Given the description of an element on the screen output the (x, y) to click on. 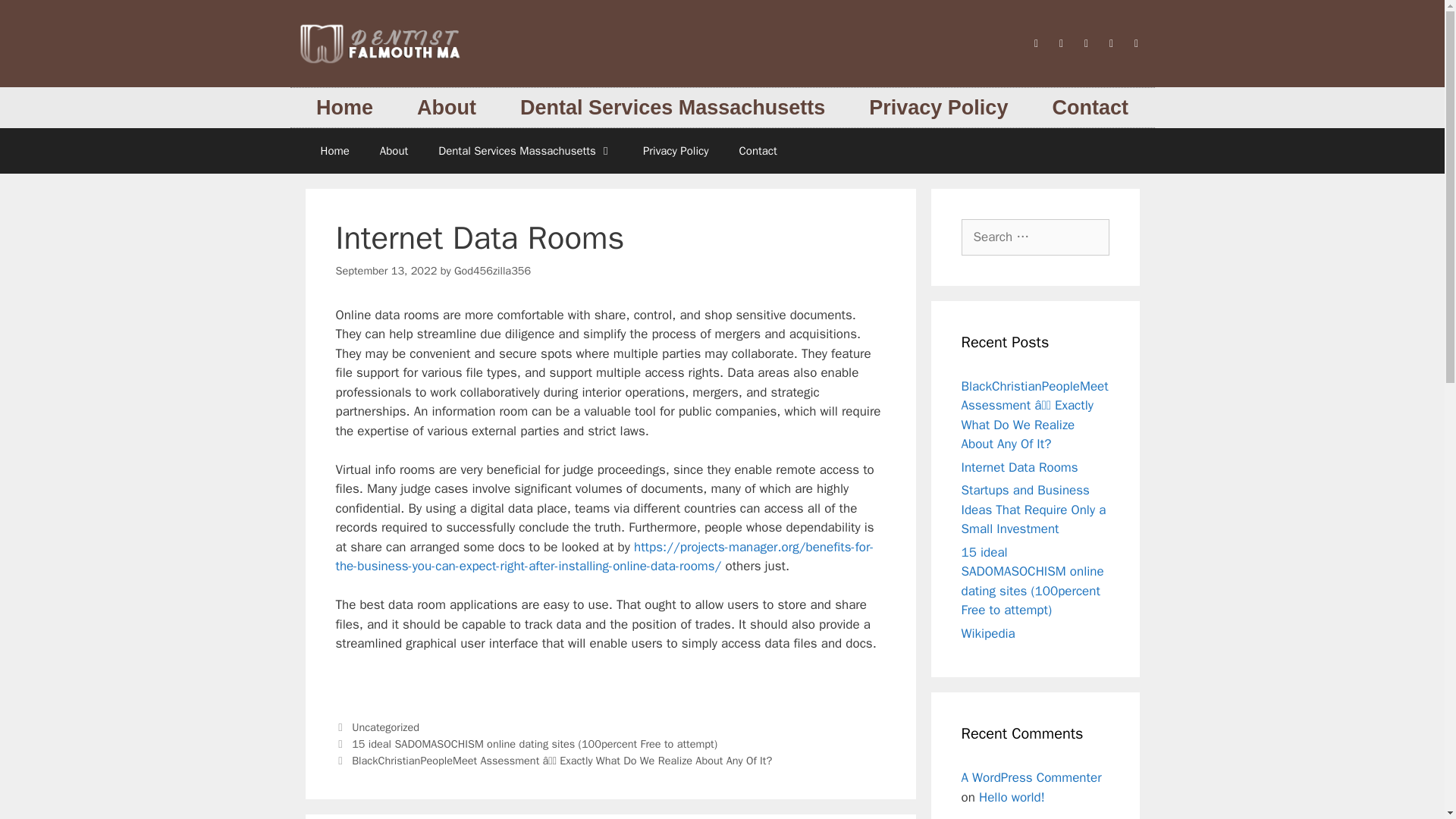
Uncategorized (385, 726)
Dental Services Massachusetts (672, 107)
Home (334, 150)
Dental Services Massachusetts (525, 150)
Privacy Policy (938, 107)
Home (344, 107)
God456zilla356 (492, 270)
Contact (1089, 107)
Privacy Policy (675, 150)
Contact (757, 150)
View all posts by God456zilla356 (492, 270)
About (394, 150)
Search for: (1034, 237)
About (445, 107)
